Given the description of an element on the screen output the (x, y) to click on. 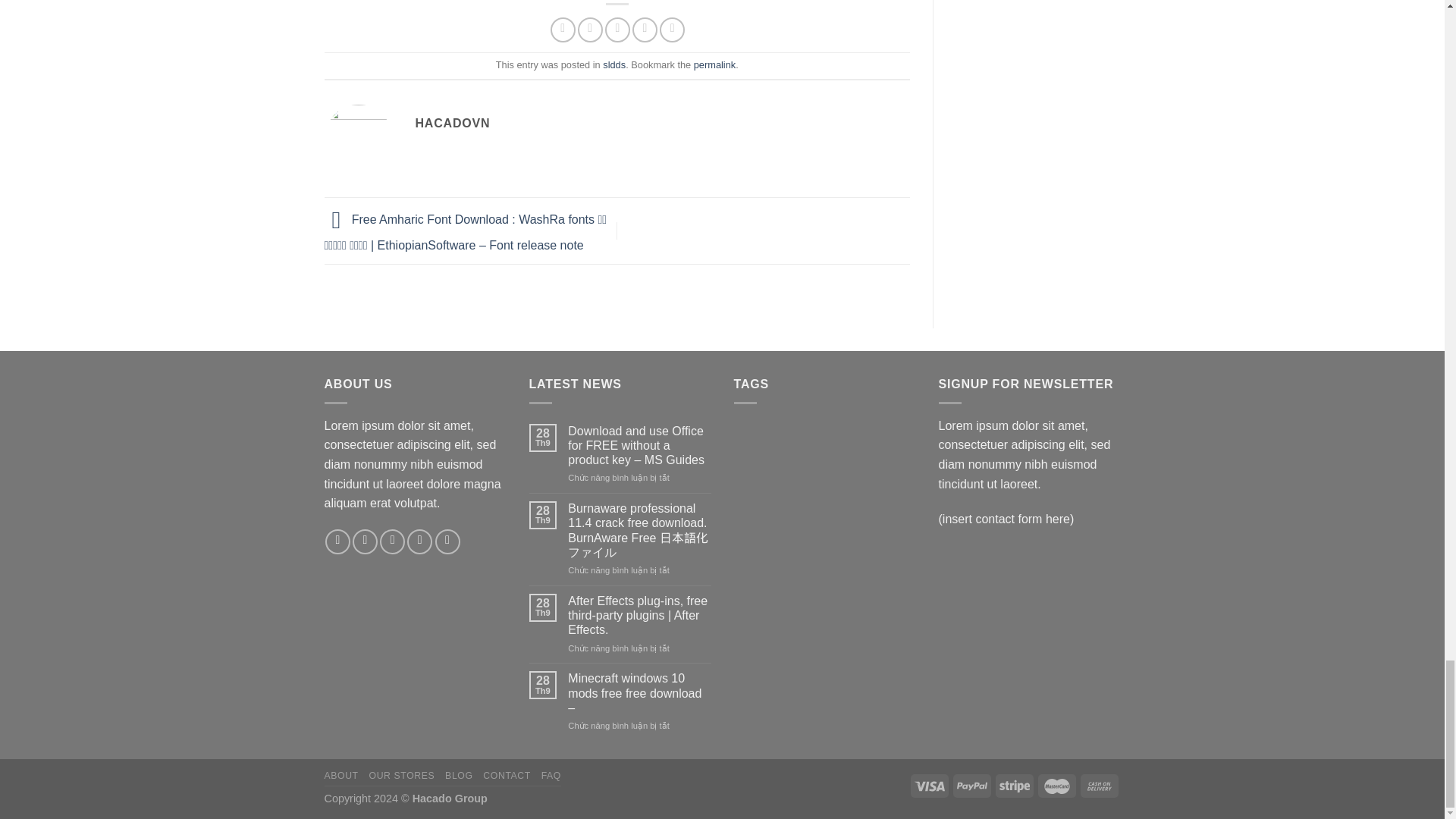
Share on Twitter (590, 29)
Share on Facebook (562, 29)
Pin on Pinterest (644, 29)
Share on LinkedIn (671, 29)
Email to a Friend (617, 29)
sldds (614, 64)
permalink (714, 64)
